Given the description of an element on the screen output the (x, y) to click on. 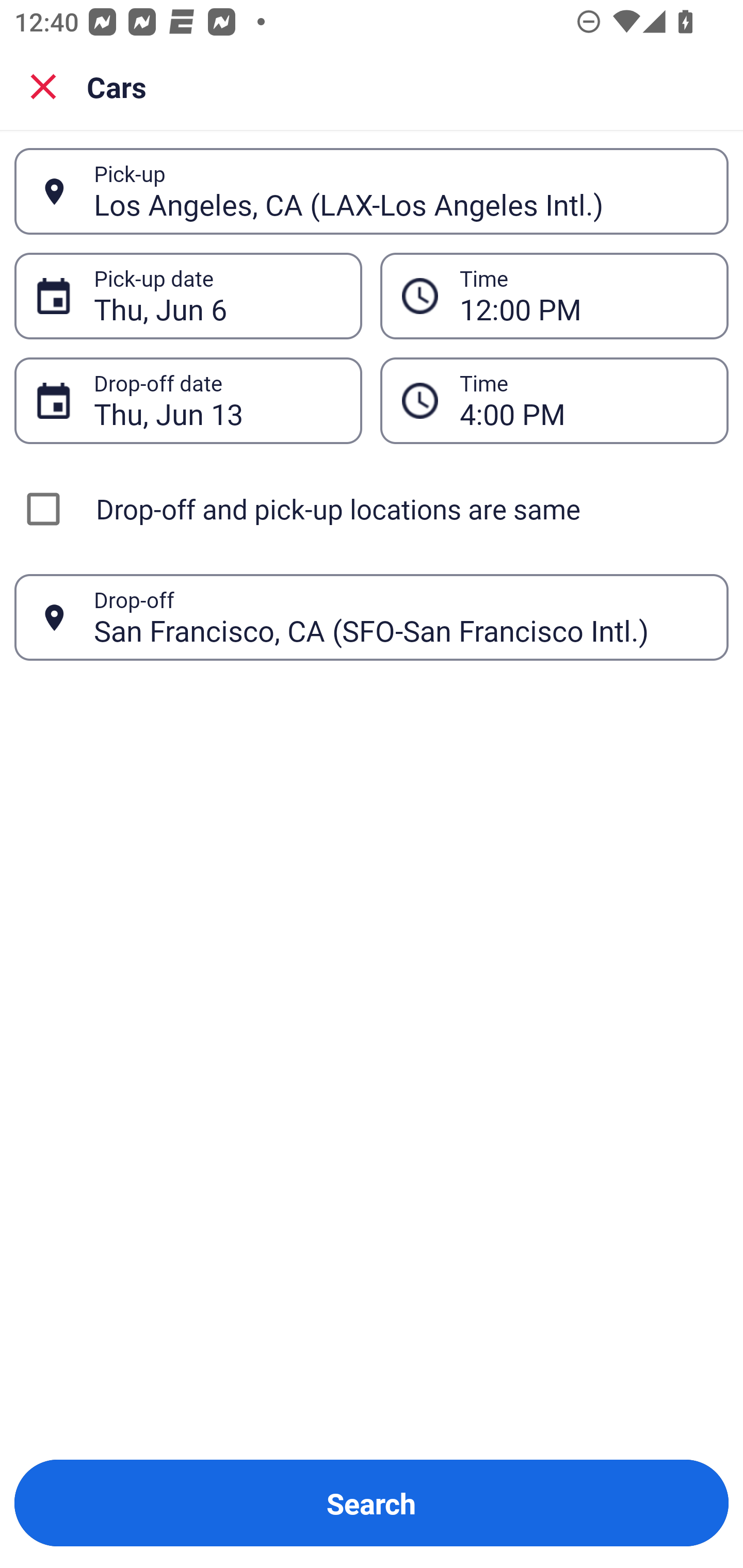
Close search screen (43, 86)
Los Angeles, CA (LAX-Los Angeles Intl.) Pick-up (371, 191)
Los Angeles, CA (LAX-Los Angeles Intl.) (399, 191)
Thu, Jun 6 Pick-up date (188, 295)
12:00 PM (554, 295)
Thu, Jun 6 (216, 296)
12:00 PM (582, 296)
Thu, Jun 13 Drop-off date (188, 400)
4:00 PM (554, 400)
Thu, Jun 13 (216, 400)
4:00 PM (582, 400)
Drop-off and pick-up locations are same (371, 508)
San Francisco, CA (SFO-San Francisco Intl.) (399, 616)
Search Button Search (371, 1502)
